Given the description of an element on the screen output the (x, y) to click on. 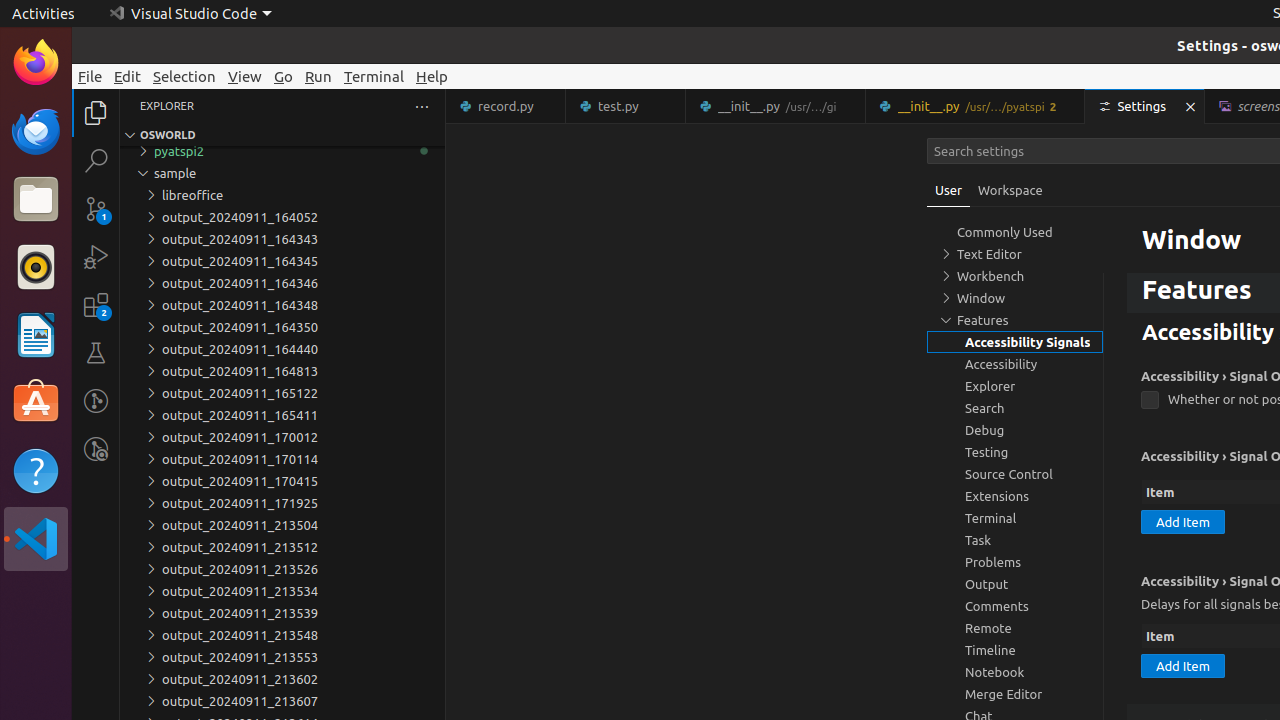
Search (Ctrl+Shift+F) Element type: page-tab (96, 160)
output_20240911_164052 Element type: tree-item (282, 217)
output_20240911_164813 Element type: tree-item (282, 371)
Explorer (Ctrl+Shift+E) Element type: page-tab (96, 113)
output_20240911_170114 Element type: tree-item (282, 459)
